Given the description of an element on the screen output the (x, y) to click on. 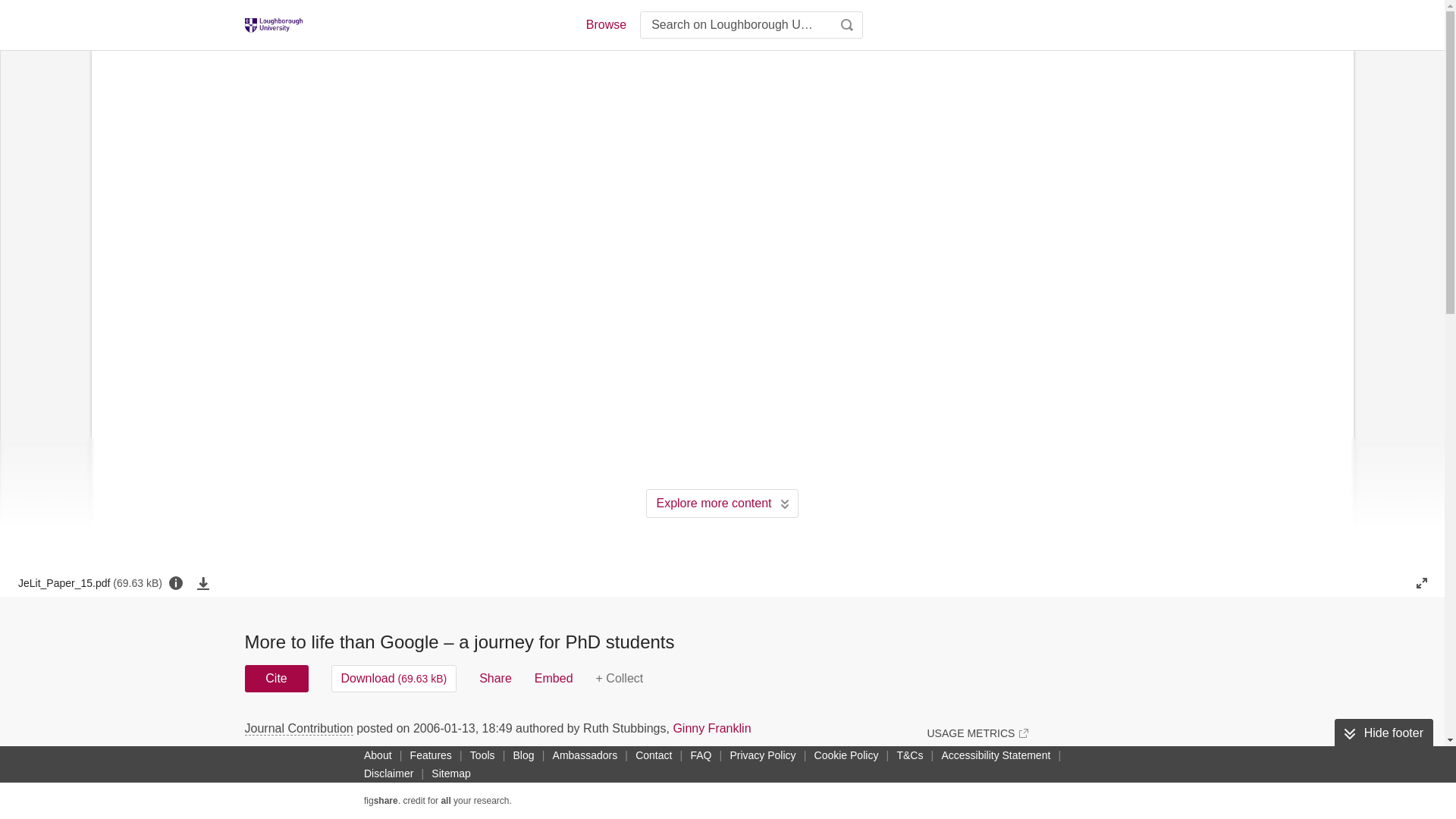
Accessibility Statement (995, 755)
Ginny Franklin (711, 727)
Blog (523, 755)
Ambassadors (585, 755)
Share (495, 678)
About (377, 755)
USAGE METRICS (976, 732)
Cite (275, 678)
Cookie Policy (846, 755)
Privacy Policy (762, 755)
